Given the description of an element on the screen output the (x, y) to click on. 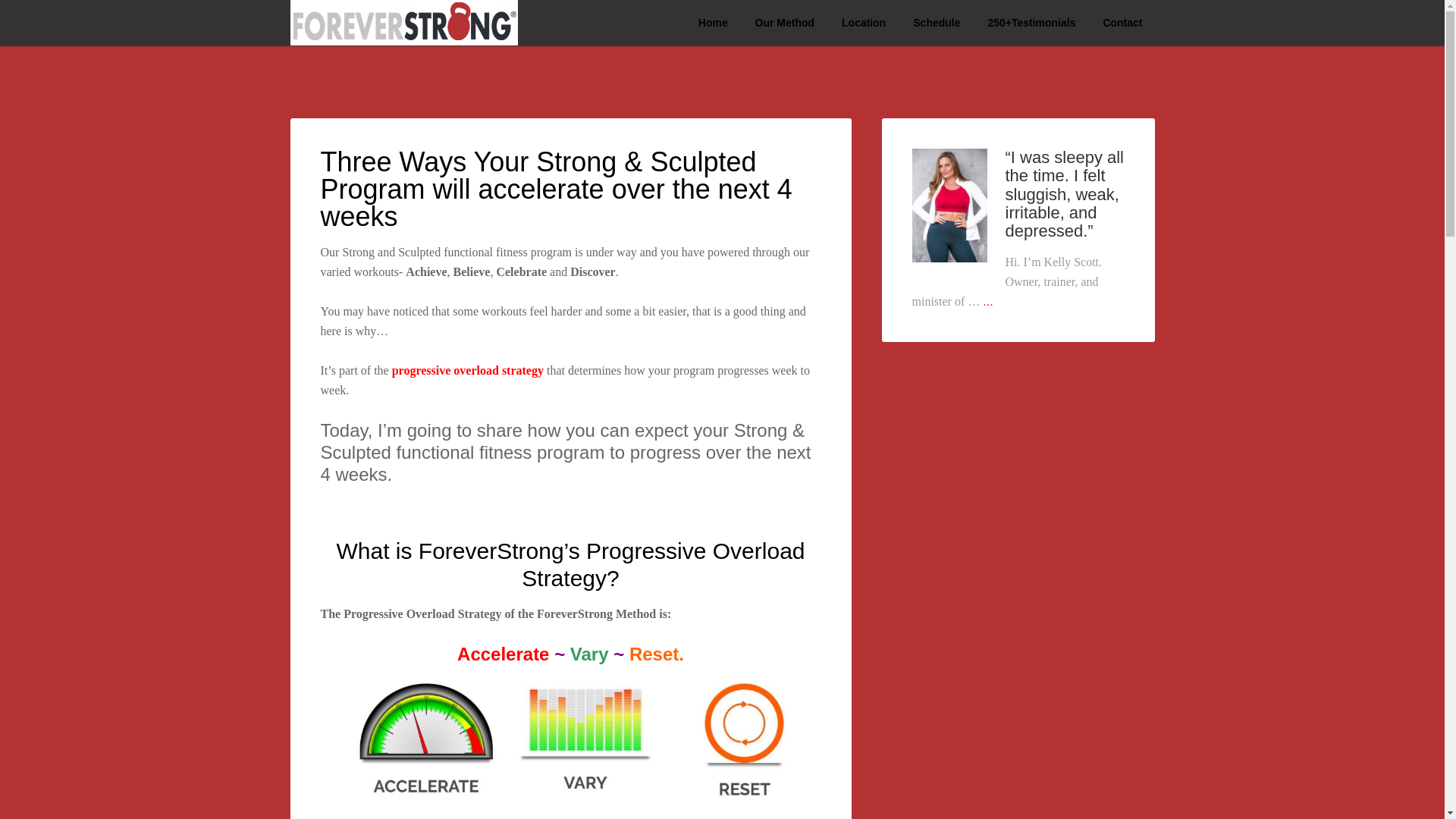
Home (712, 22)
Contact (1122, 22)
Schedule (936, 22)
Location (863, 22)
Our Method (784, 22)
